Given the description of an element on the screen output the (x, y) to click on. 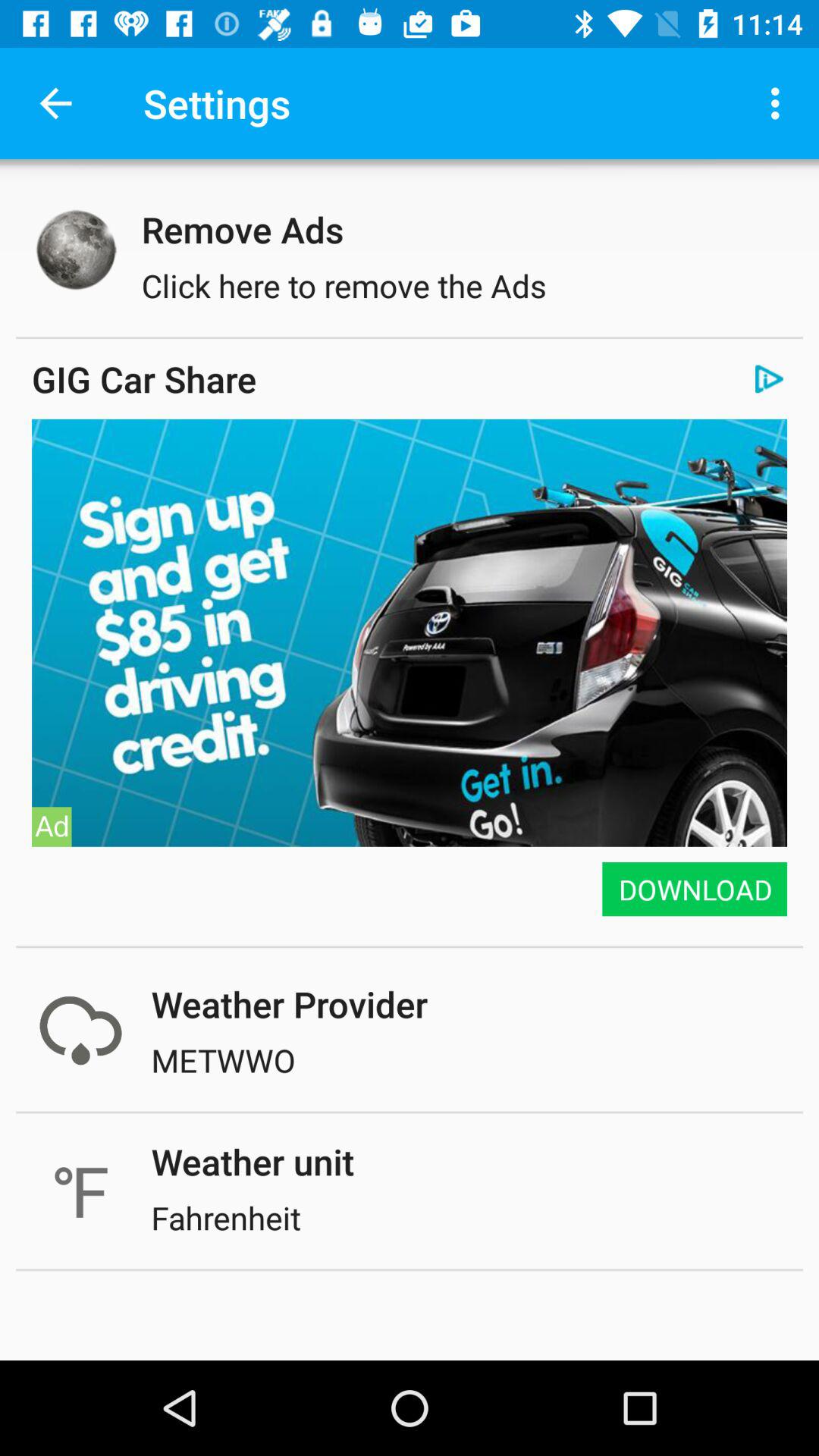
select icon above remove ads item (779, 103)
